Given the description of an element on the screen output the (x, y) to click on. 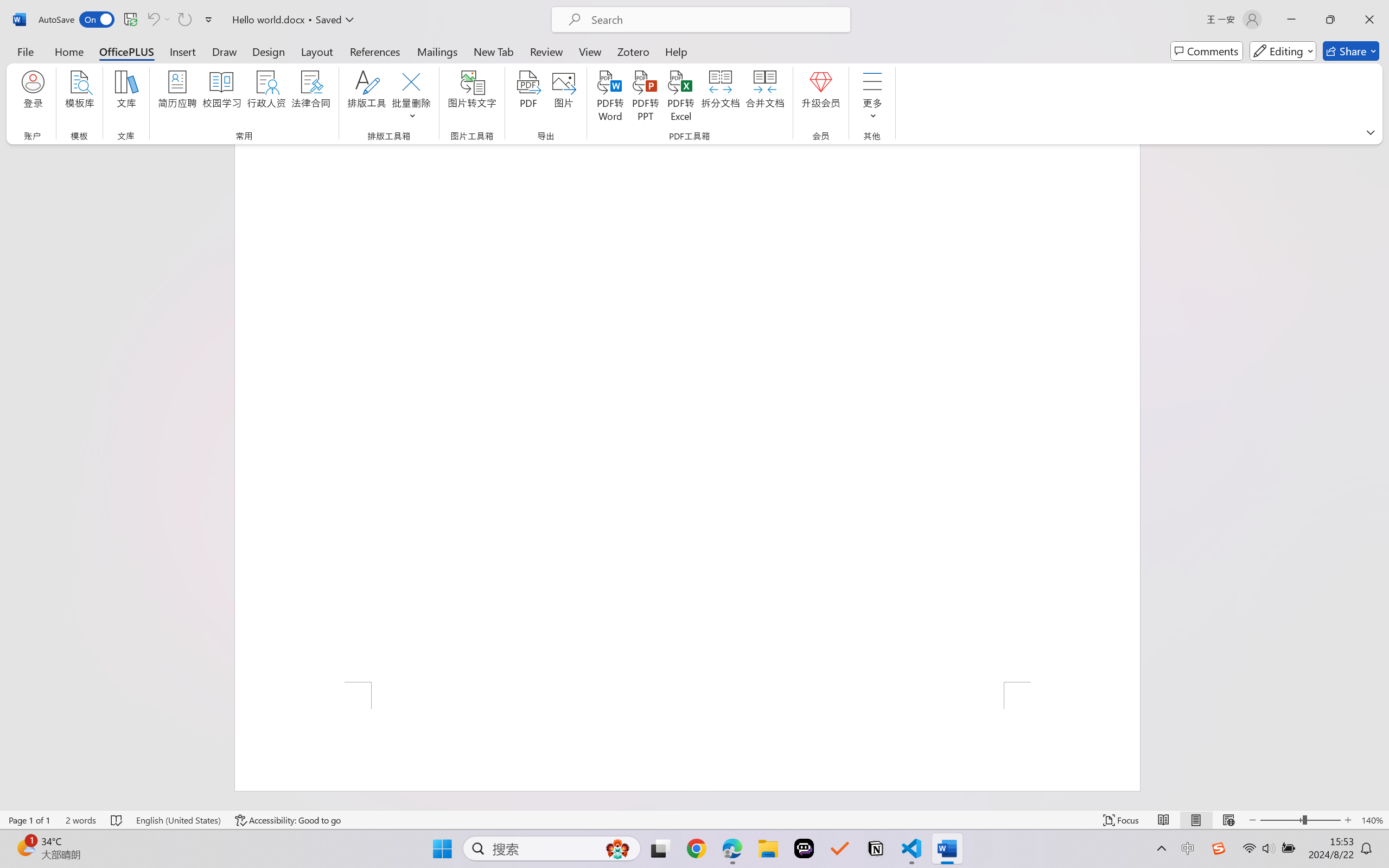
OfficePLUS (126, 51)
Help (675, 51)
Comments (1206, 50)
Page Number Page 1 of 1 (29, 819)
Spelling and Grammar Check No Errors (117, 819)
Web Layout (1228, 819)
Close (1369, 19)
View (589, 51)
AutomationID: DynamicSearchBoxGleamImage (617, 848)
Zoom Out (1280, 819)
